Given the description of an element on the screen output the (x, y) to click on. 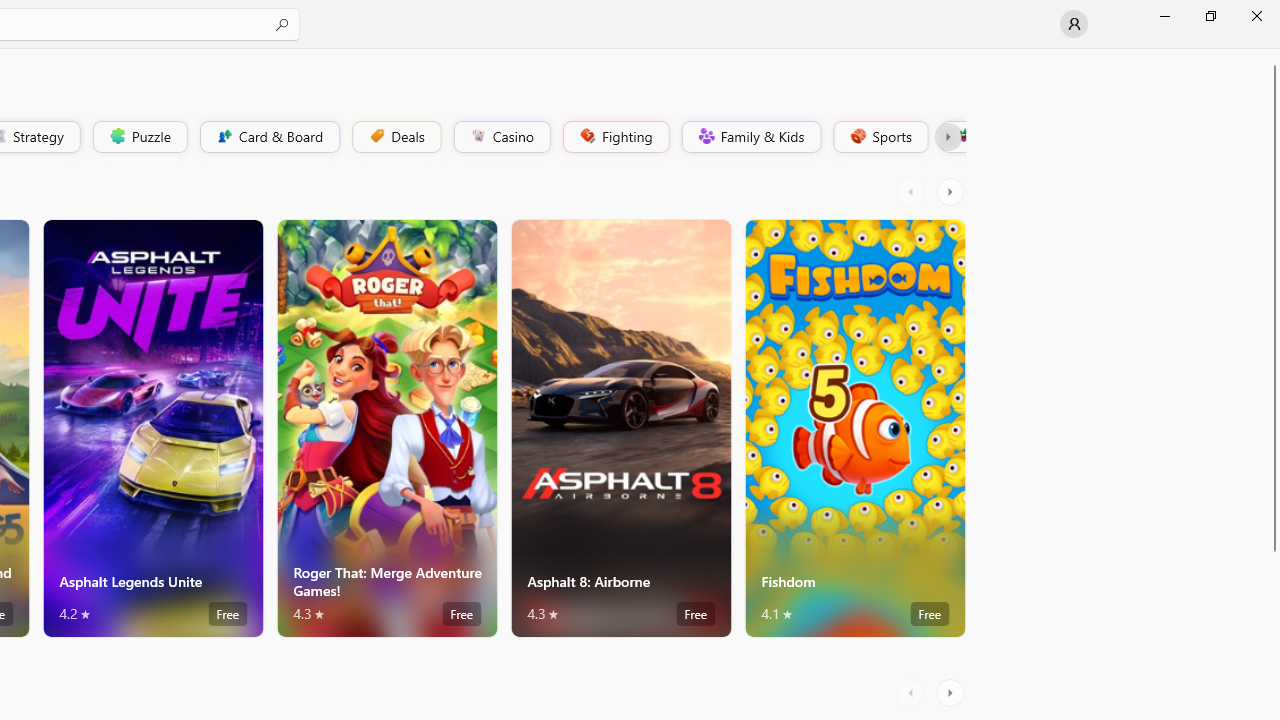
Family & Kids (750, 136)
Close Microsoft Store (1256, 15)
AutomationID: LeftScrollButton (913, 692)
Sports (879, 136)
Minimize Microsoft Store (1164, 15)
